Given the description of an element on the screen output the (x, y) to click on. 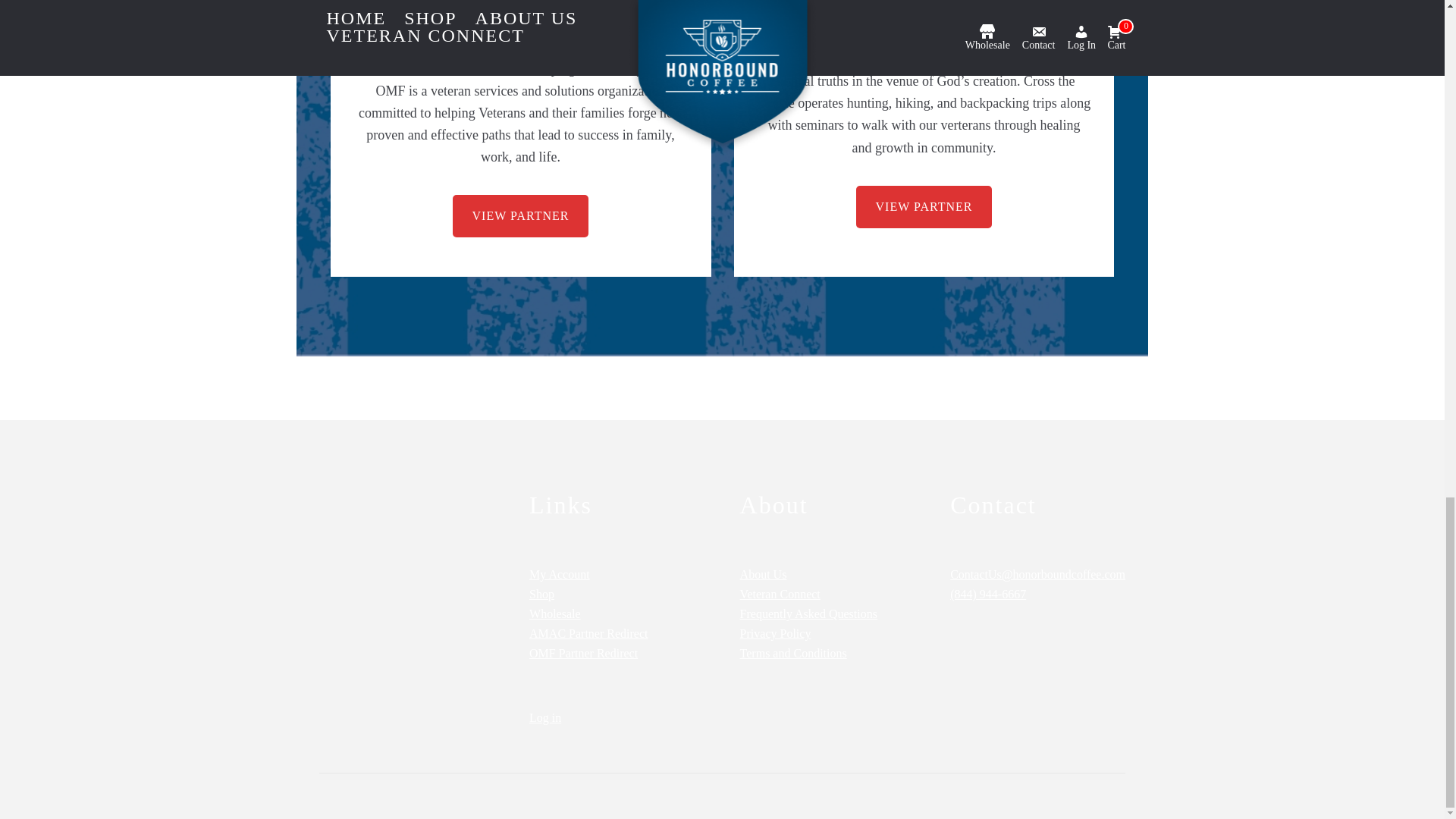
AMAC Partner Redirect (588, 633)
Shop (541, 594)
Privacy Policy (774, 633)
VIEW PARTNER (924, 206)
Log in (544, 717)
Veteran Connect (780, 594)
OMF Partner Redirect (583, 653)
My Account (559, 574)
Frequently Asked Questions (808, 613)
Wholesale (554, 613)
